Given the description of an element on the screen output the (x, y) to click on. 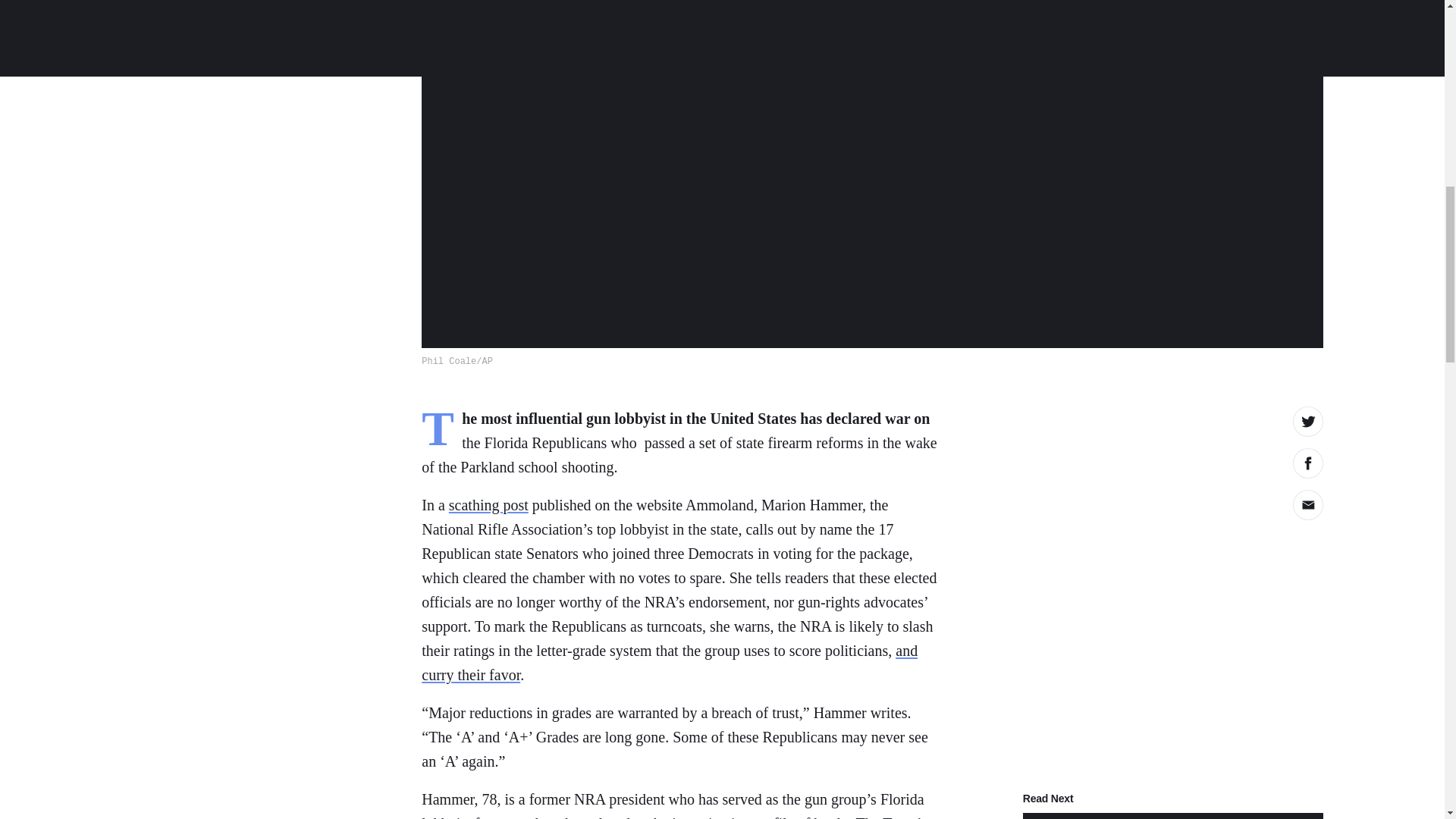
and curry their favor (669, 662)
Share on Twitter (1307, 421)
scathing post (488, 504)
Email a link to this page (1307, 504)
Share on Facebook (1307, 462)
